Given the description of an element on the screen output the (x, y) to click on. 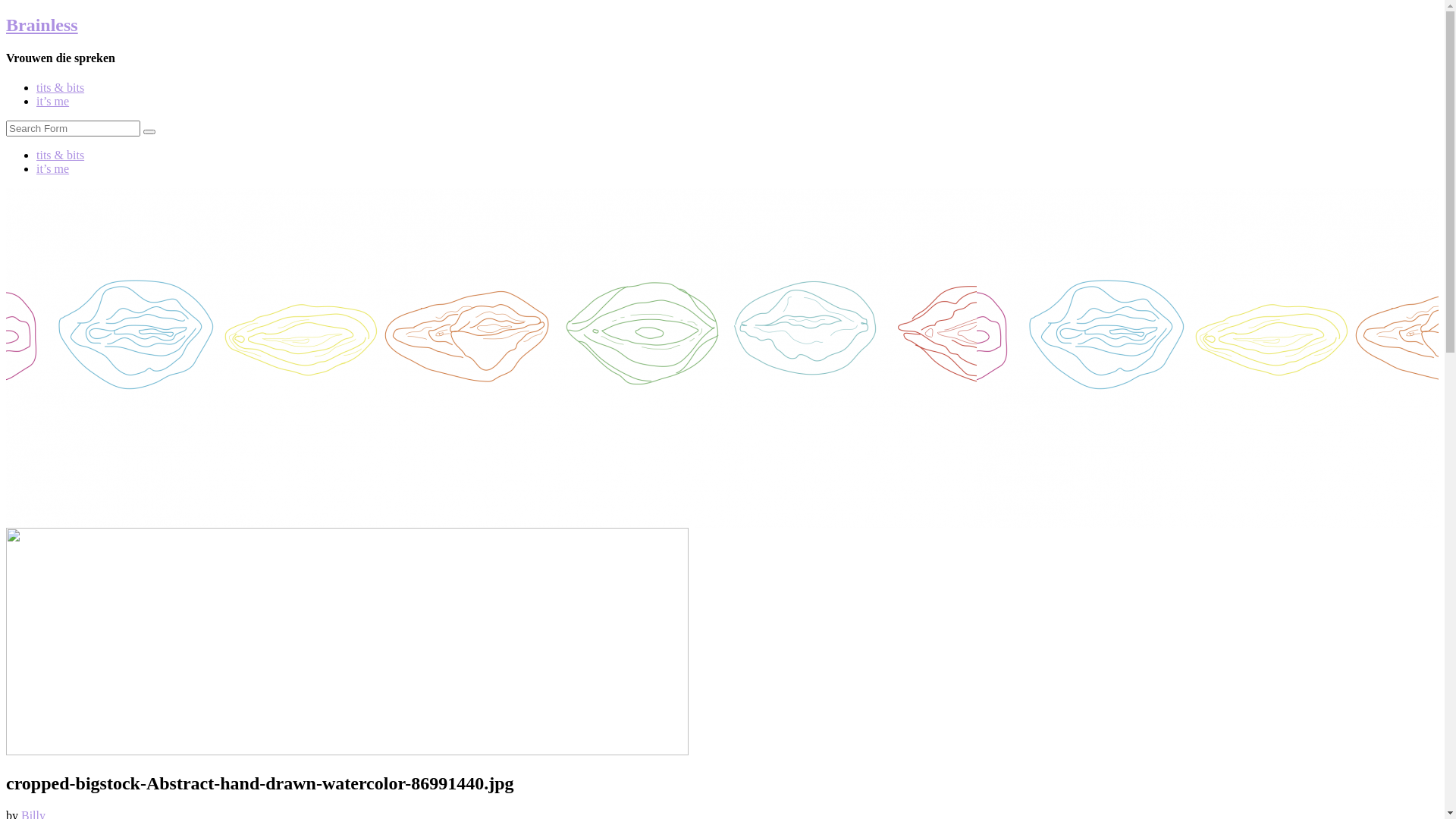
tits & bits Element type: text (60, 87)
tits & bits Element type: text (60, 154)
Brainless Element type: text (42, 24)
